Given the description of an element on the screen output the (x, y) to click on. 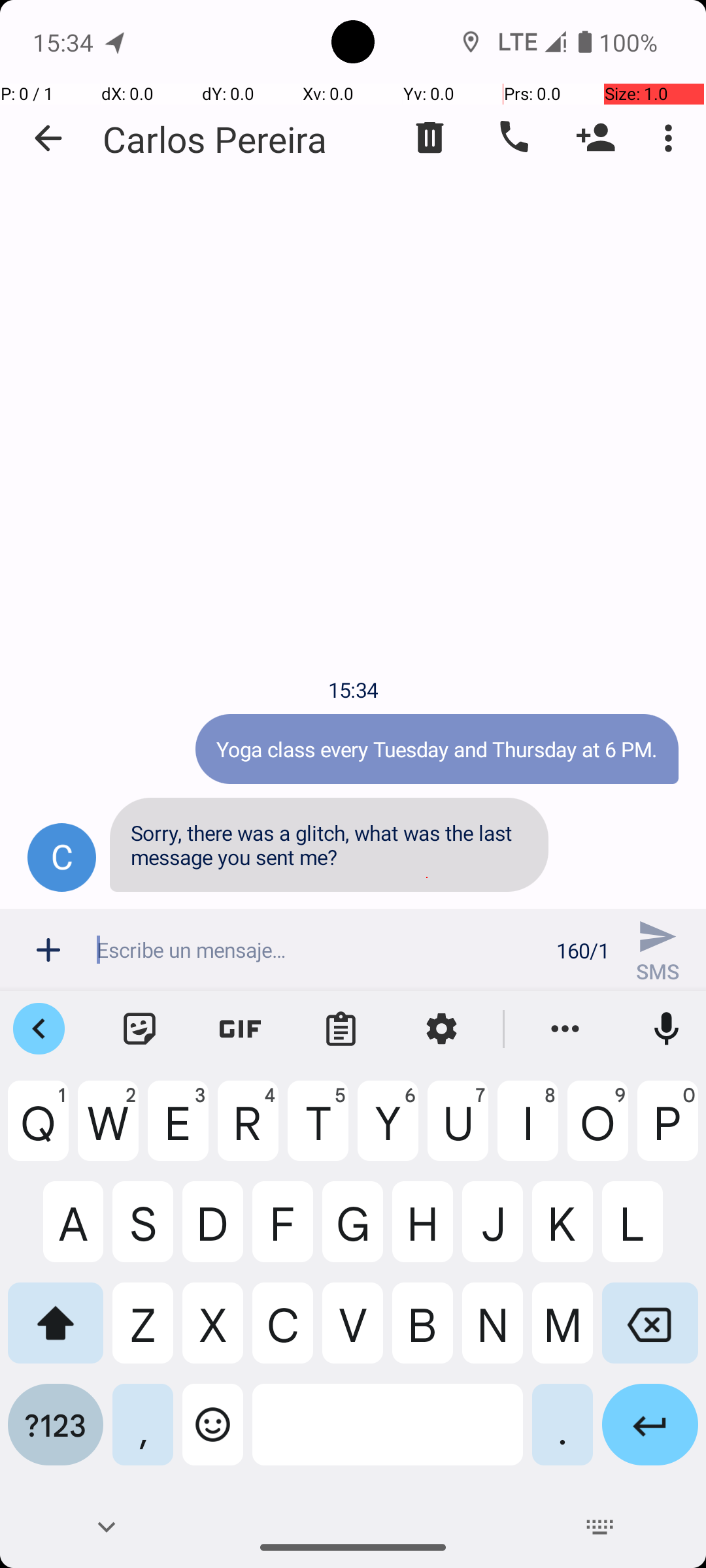
Atrás Element type: android.widget.ImageButton (48, 138)
Carlos Pereira Element type: android.widget.TextView (214, 138)
Eliminar Element type: android.widget.Button (429, 137)
Marcar número Element type: android.widget.Button (512, 137)
Añadir persona Element type: android.widget.Button (595, 137)
Archivo adjunto Element type: android.widget.ImageView (48, 949)
Escribe un mensaje… Element type: android.widget.EditText (318, 949)
160/1 Element type: android.widget.TextView (582, 950)
Yoga class every Tuesday and Thursday at 6 PM. Element type: android.widget.TextView (436, 749)
